Given the description of an element on the screen output the (x, y) to click on. 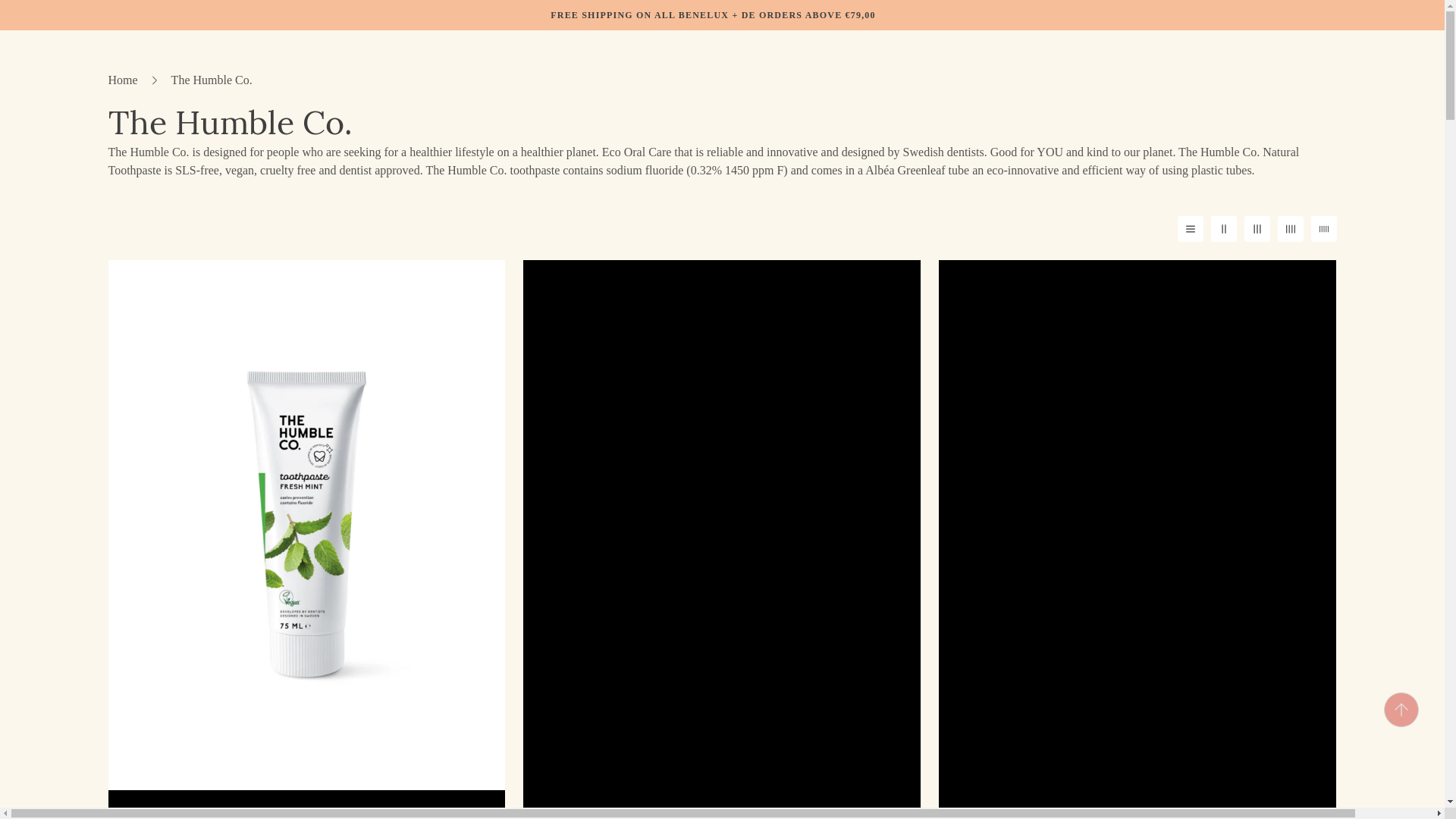
Back to the home page (122, 80)
